Given the description of an element on the screen output the (x, y) to click on. 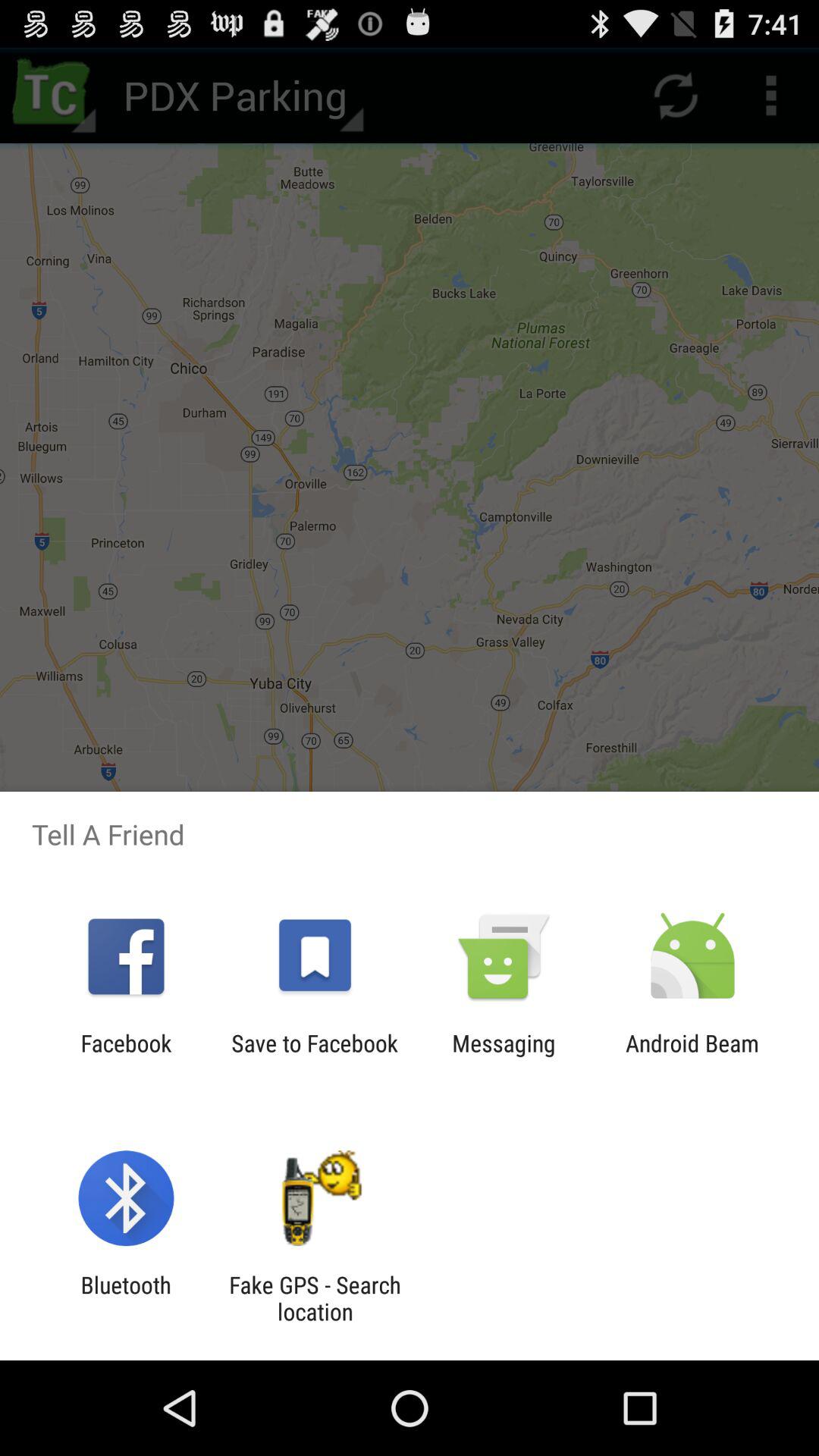
turn on icon to the right of the bluetooth (314, 1298)
